Given the description of an element on the screen output the (x, y) to click on. 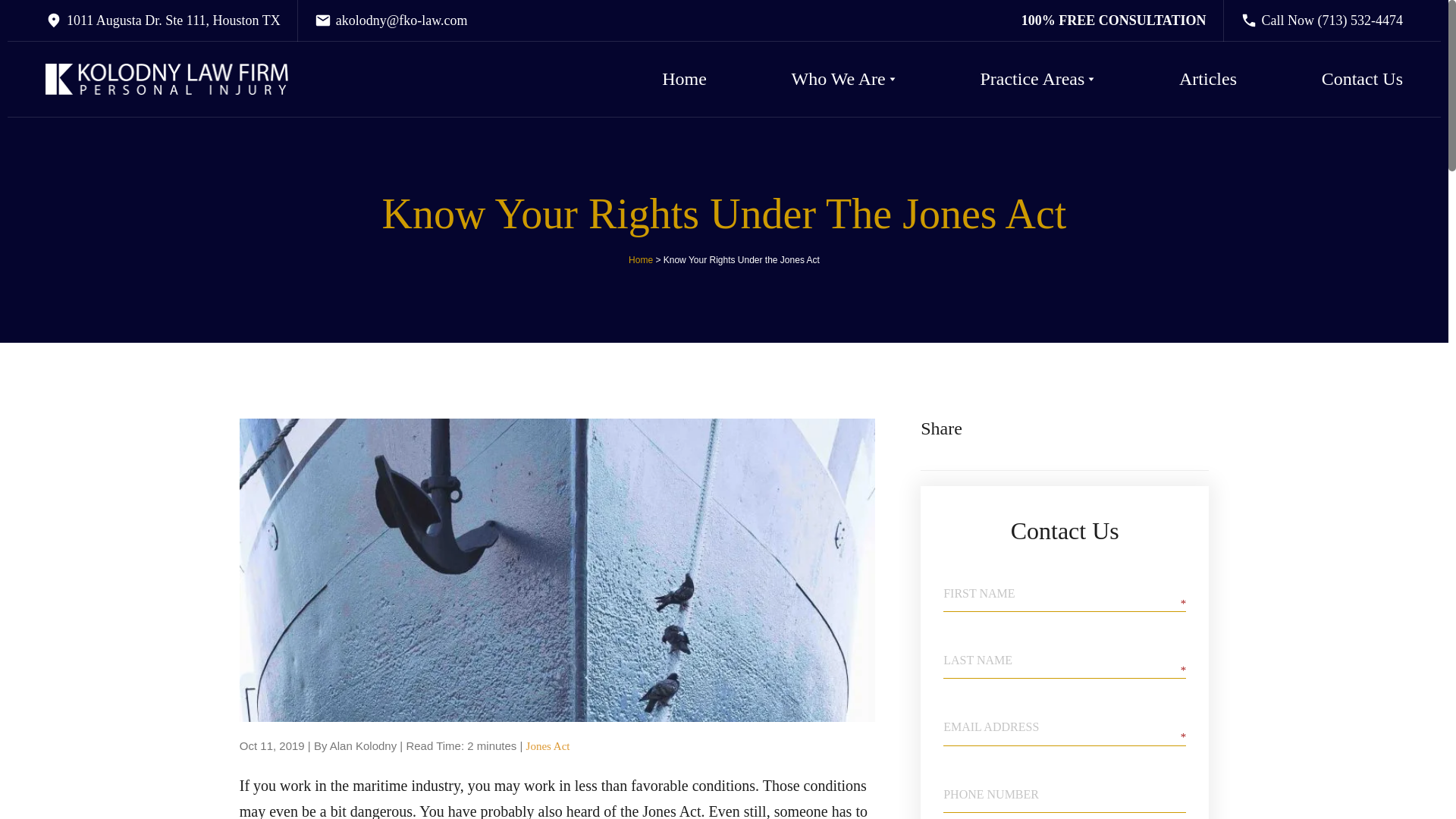
Practice Areas (1031, 78)
Jones Act (547, 746)
Jones Act (547, 746)
Articles (1207, 78)
Contact Us (1362, 78)
Home (684, 78)
Home (640, 259)
Who We Are (838, 78)
